Given the description of an element on the screen output the (x, y) to click on. 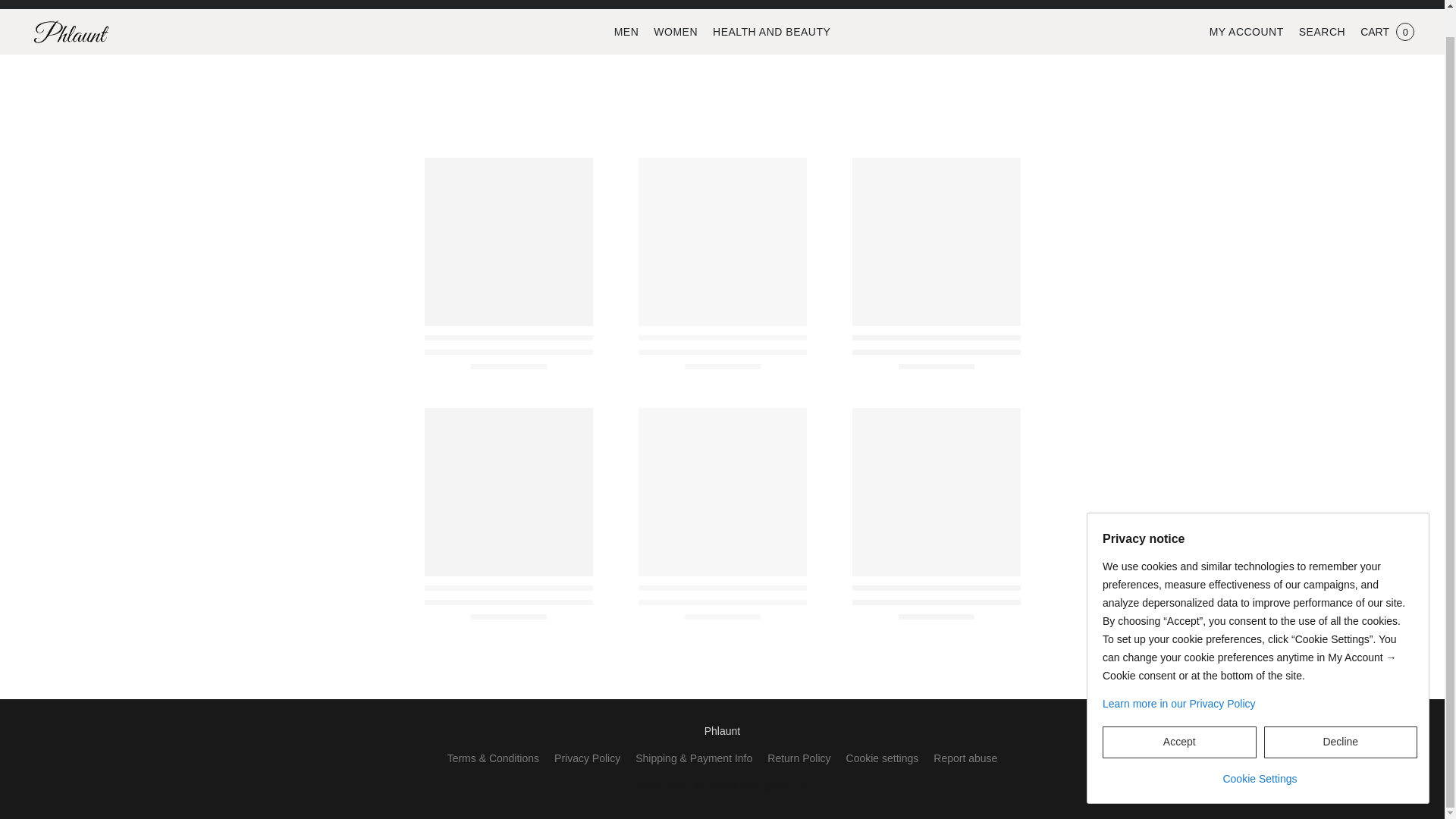
Decline (1339, 715)
Accept (1179, 715)
SEARCH (1321, 31)
Report abuse (965, 758)
Return Policy (798, 758)
WOMEN (675, 31)
Go to your shopping cart (1387, 31)
CART (1387, 31)
Search the website (1321, 31)
Learn more in our Privacy Policy (1259, 676)
